Given the description of an element on the screen output the (x, y) to click on. 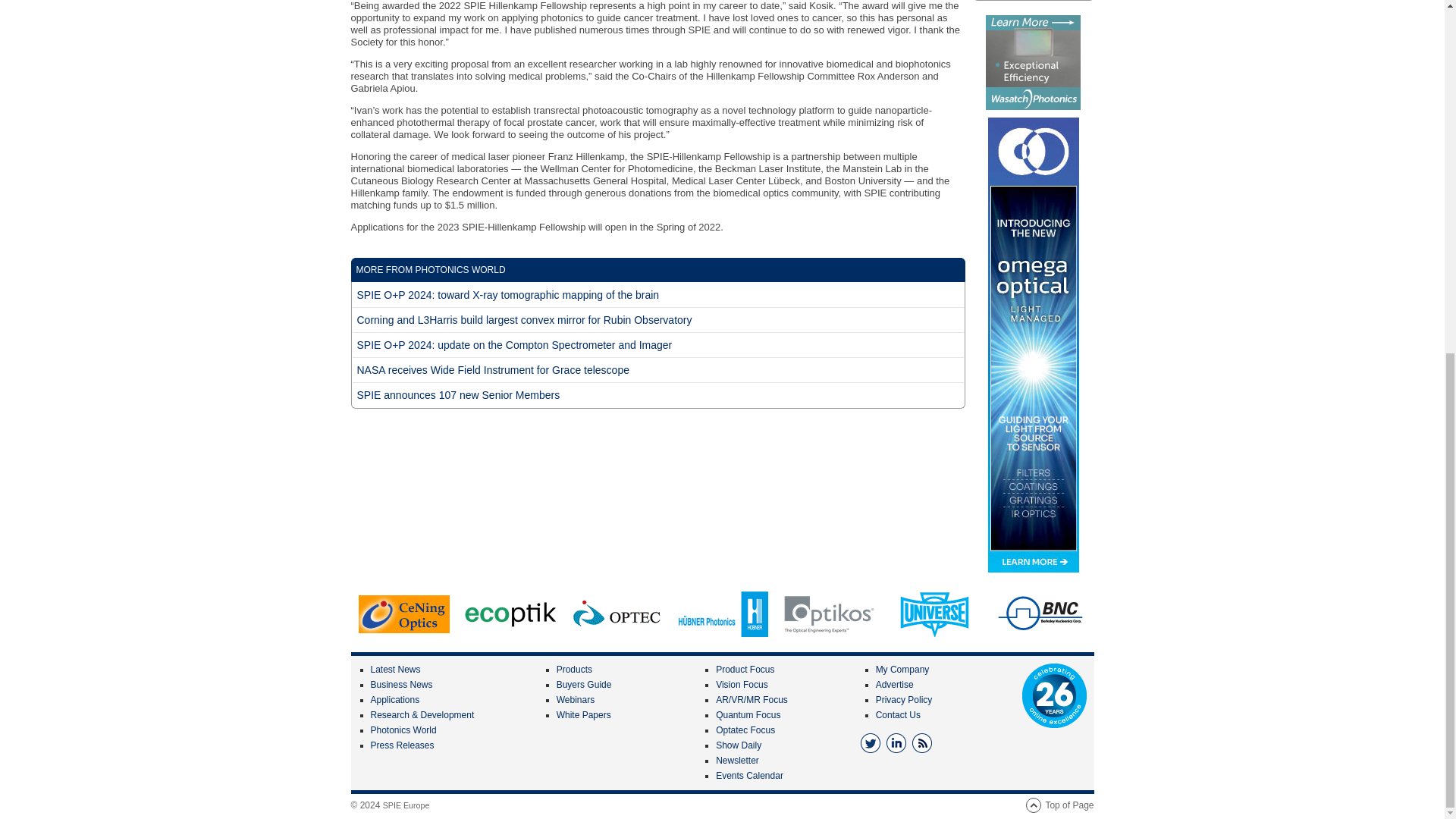
RSS Feeds (921, 742)
LinkedIn (895, 742)
Twitter (870, 742)
